Given the description of an element on the screen output the (x, y) to click on. 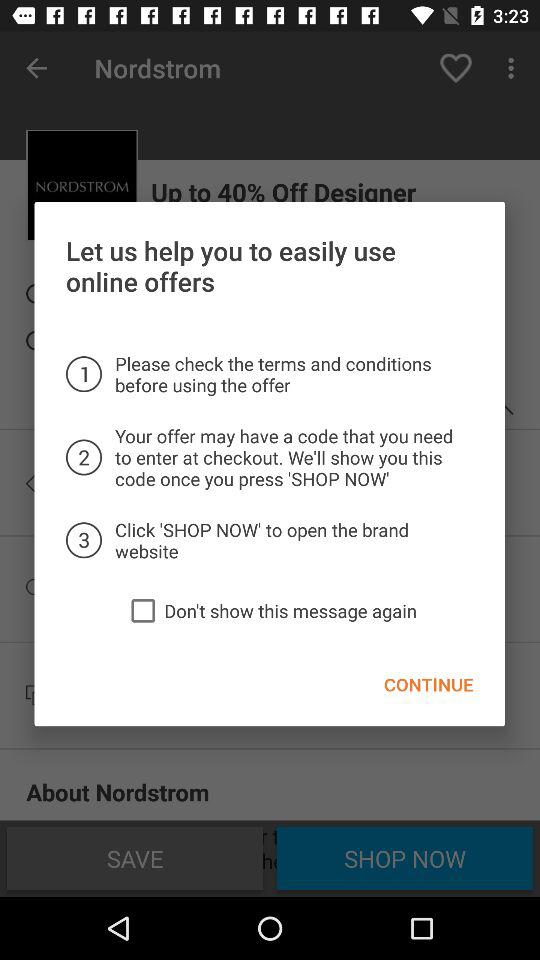
flip until the continue icon (428, 683)
